Given the description of an element on the screen output the (x, y) to click on. 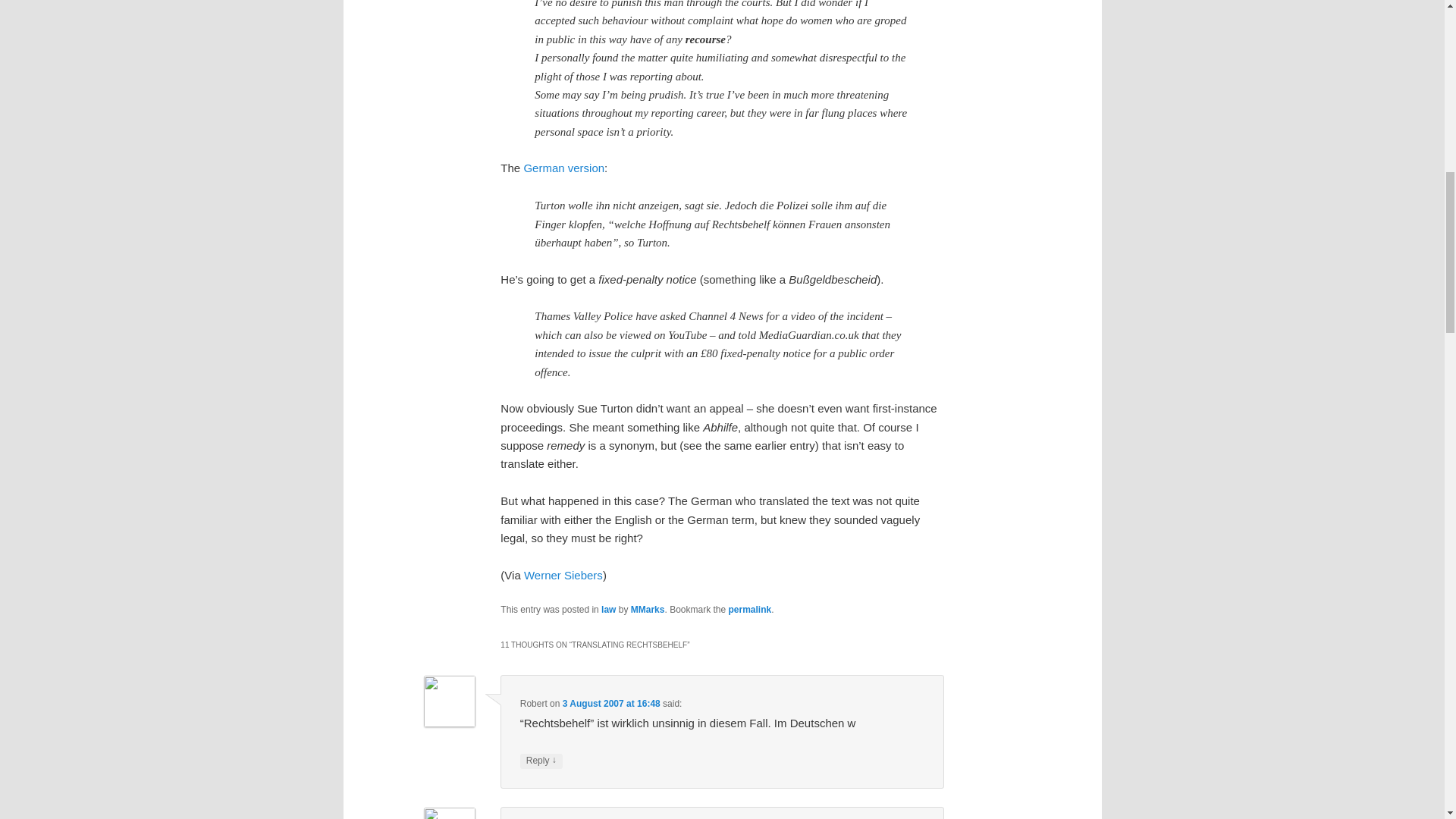
Werner Siebers (563, 574)
3 August 2007 at 16:48 (611, 703)
permalink (750, 609)
MMarks (647, 609)
law (608, 609)
German version (563, 167)
